Given the description of an element on the screen output the (x, y) to click on. 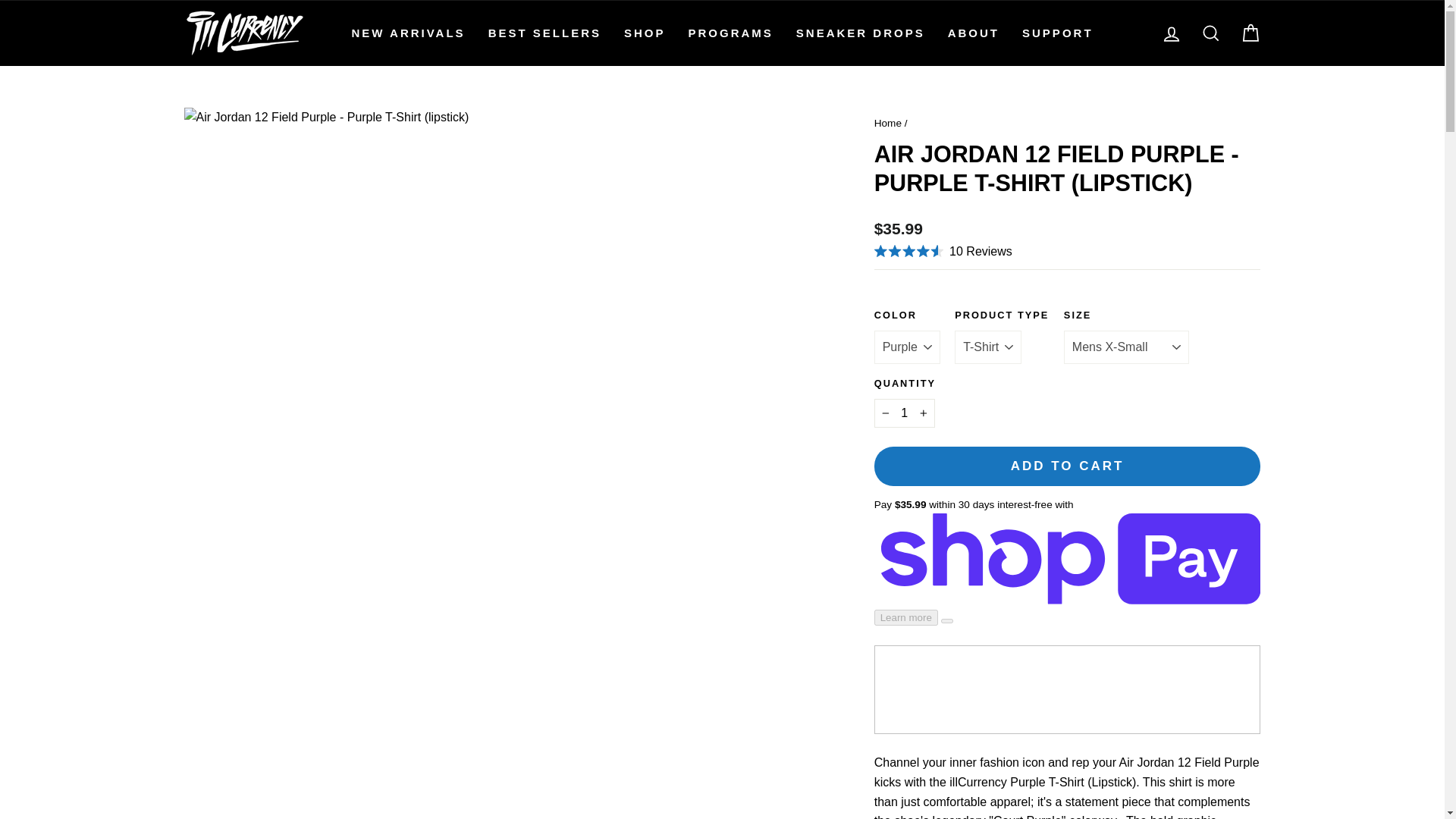
Back to the frontpage (888, 122)
1 (904, 412)
